Given the description of an element on the screen output the (x, y) to click on. 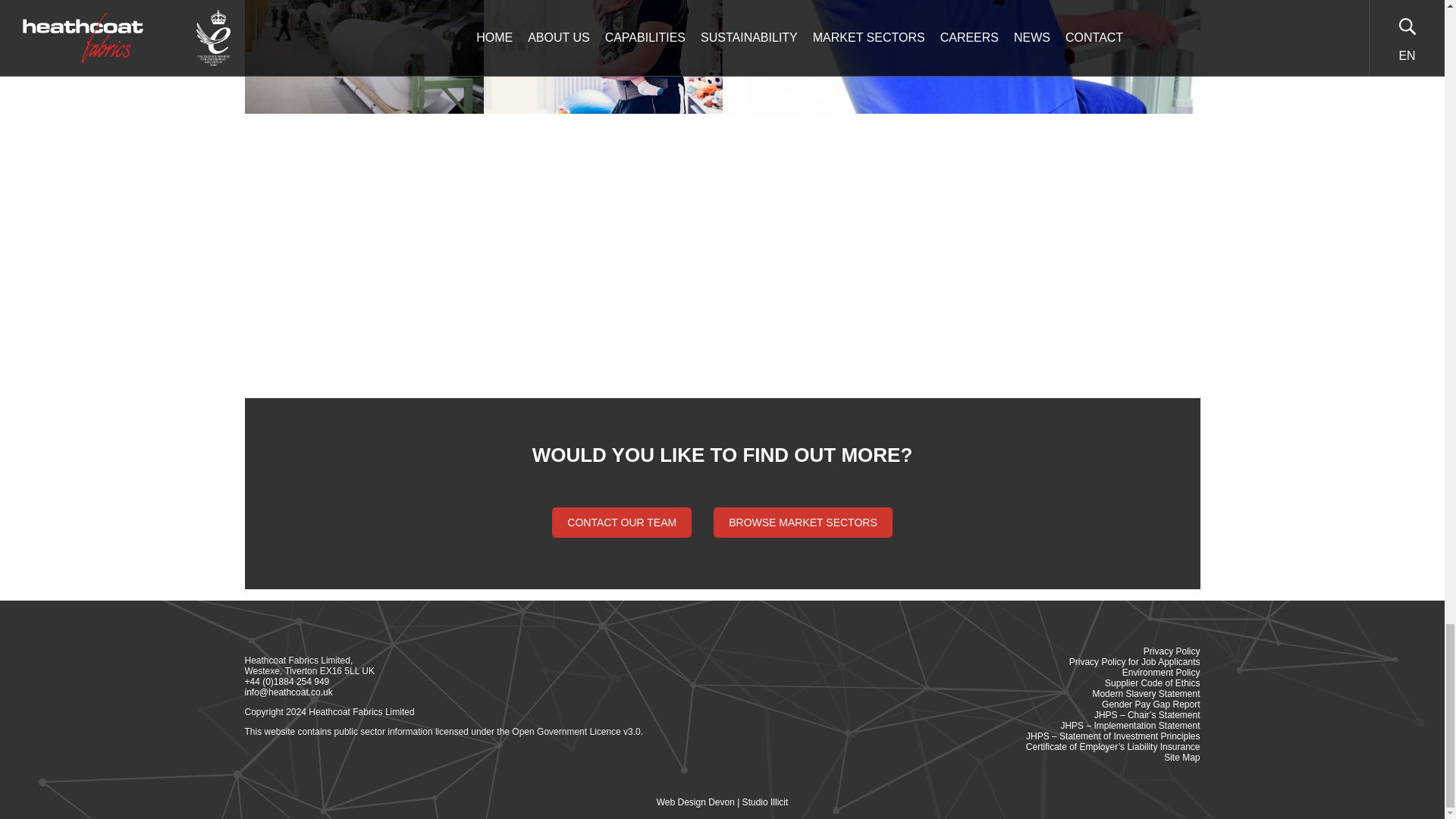
Site Map (1181, 757)
Gender Pay Gap Report (1150, 704)
Modern Slavery Statement (1145, 693)
BROWSE MARKET SECTORS (802, 521)
CONTACT OUR TEAM (621, 521)
Environment Policy (1160, 672)
Privacy Policy (1170, 651)
Privacy Policy for Job Applicants (1133, 661)
Supplier Code of Ethics (1152, 683)
